Given the description of an element on the screen output the (x, y) to click on. 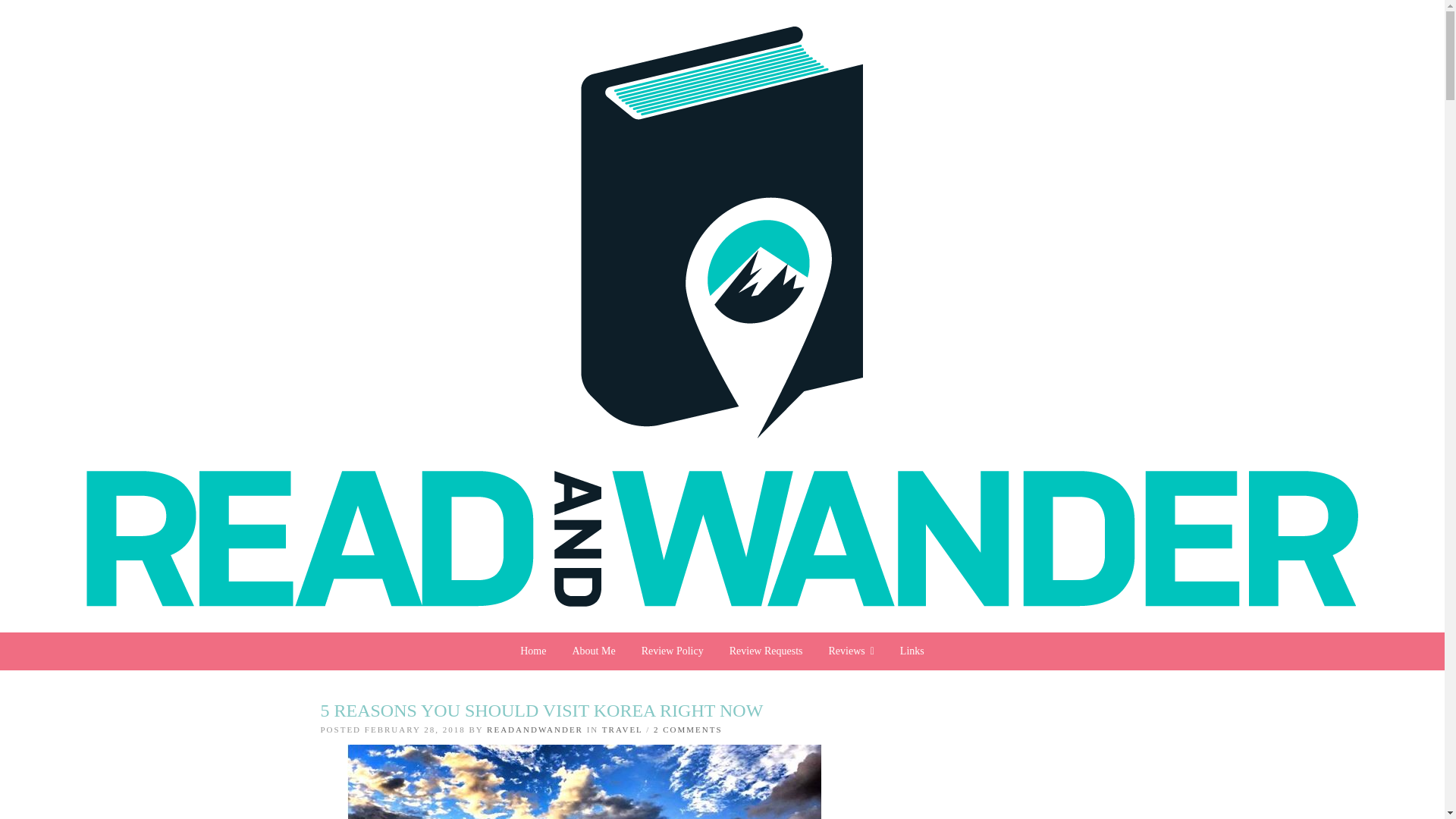
TRAVEL (622, 728)
READANDWANDER (534, 728)
View all posts in Travel (622, 728)
Links (912, 651)
Reviews   (850, 651)
About Me (593, 651)
Review Requests (765, 651)
2 COMMENTS (687, 728)
Home (532, 651)
Review Policy (672, 651)
